Given the description of an element on the screen output the (x, y) to click on. 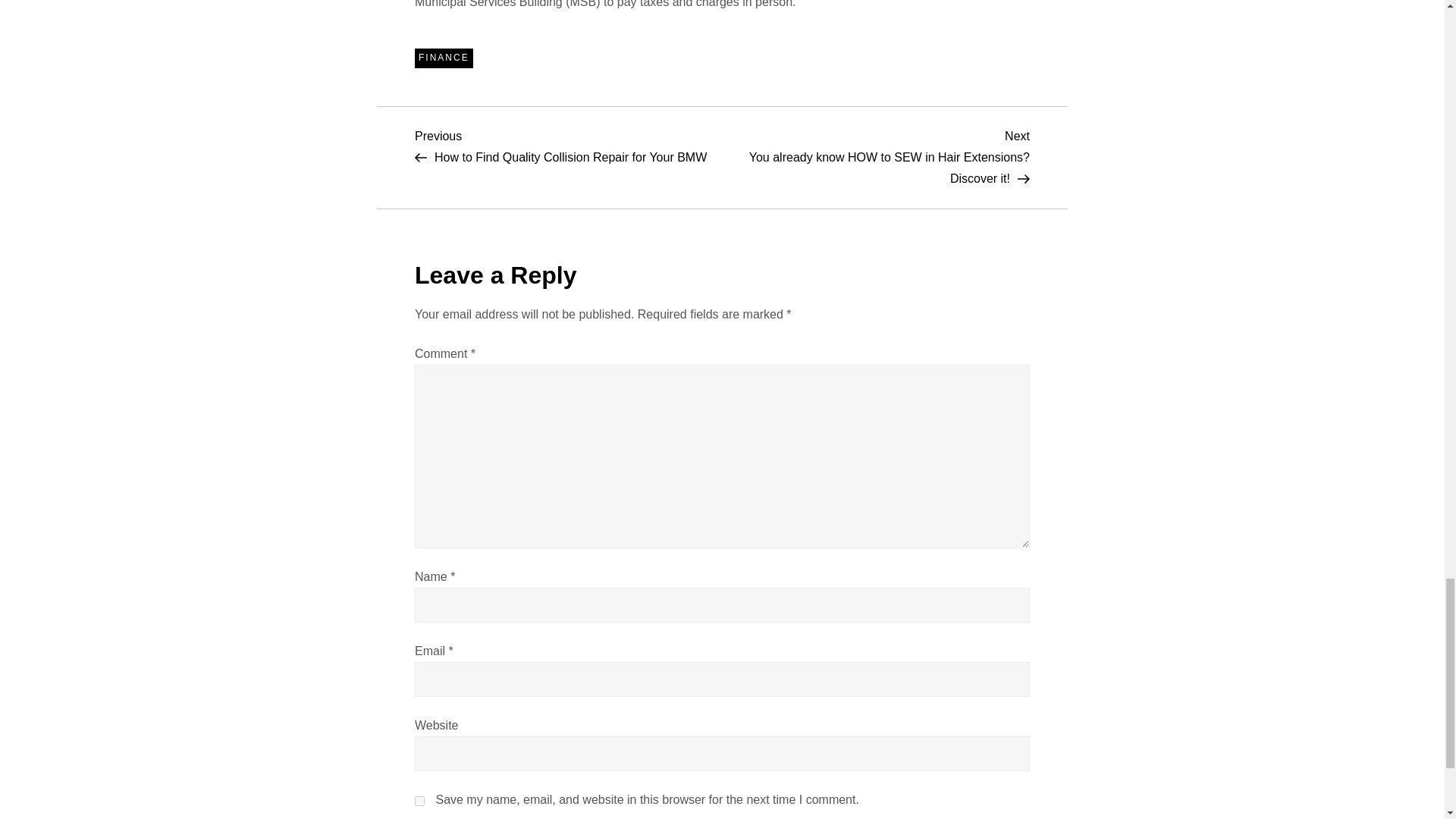
yes (419, 800)
FINANCE (443, 57)
